Given the description of an element on the screen output the (x, y) to click on. 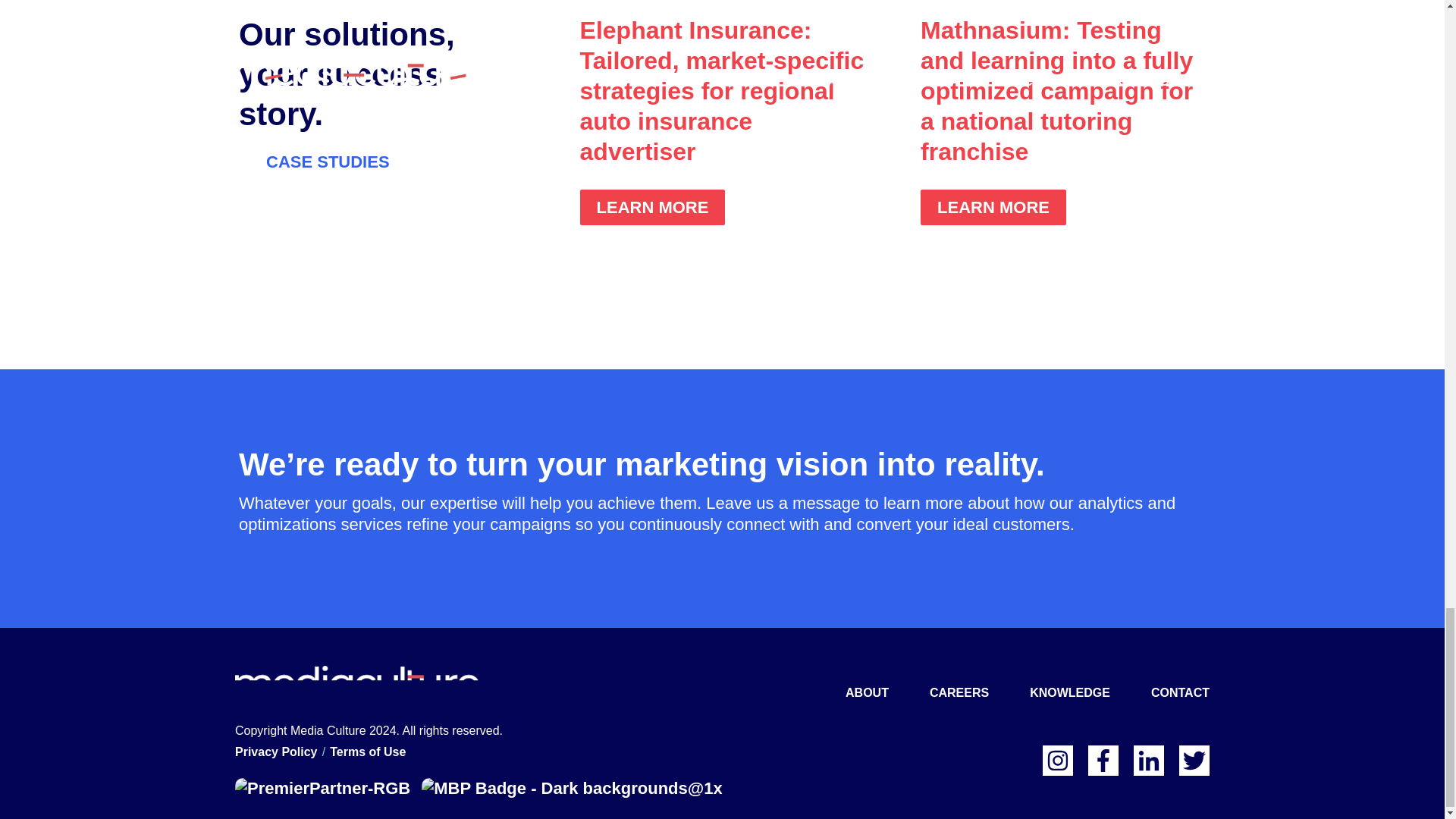
CONTACT (1180, 692)
KNOWLEDGE (1069, 692)
ABOUT (866, 692)
Media Culture Reversed Logo (356, 680)
LEARN MORE (992, 207)
LEARN MORE (652, 207)
CAREERS (959, 692)
CASE STUDIES (327, 161)
